Given the description of an element on the screen output the (x, y) to click on. 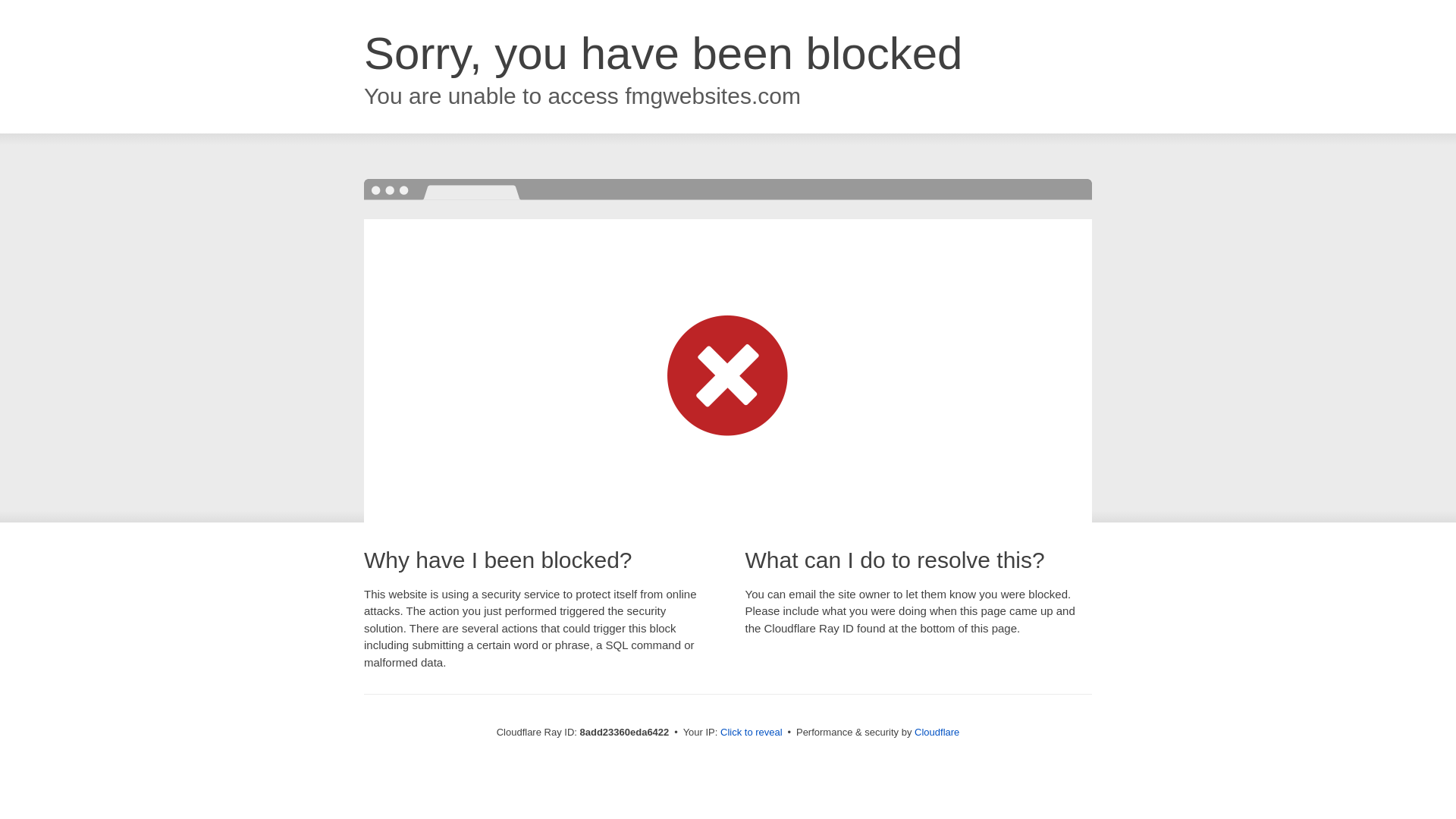
Click to reveal (751, 732)
Cloudflare (936, 731)
